Given the description of an element on the screen output the (x, y) to click on. 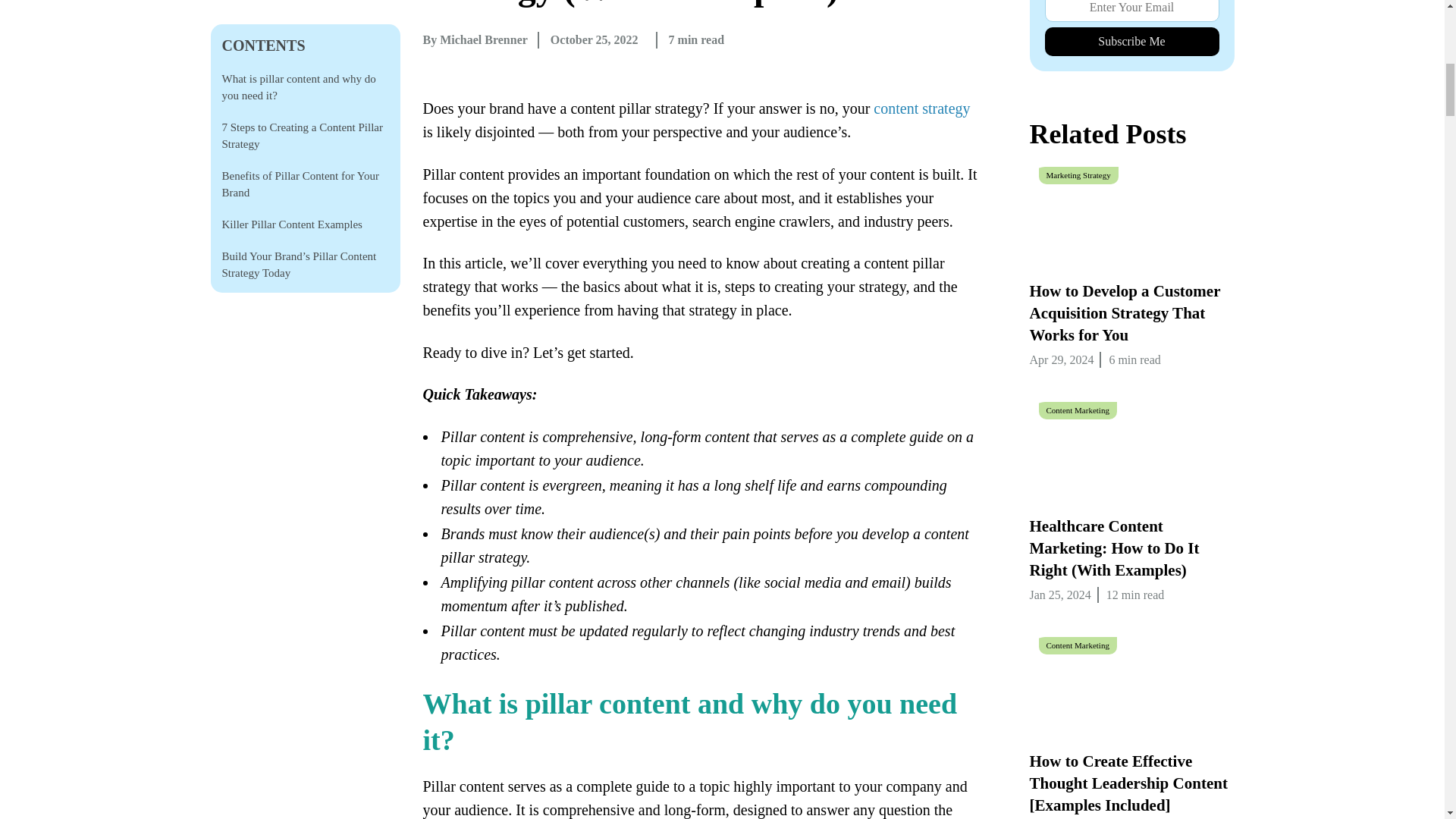
Subscribe Me (1132, 41)
